Given the description of an element on the screen output the (x, y) to click on. 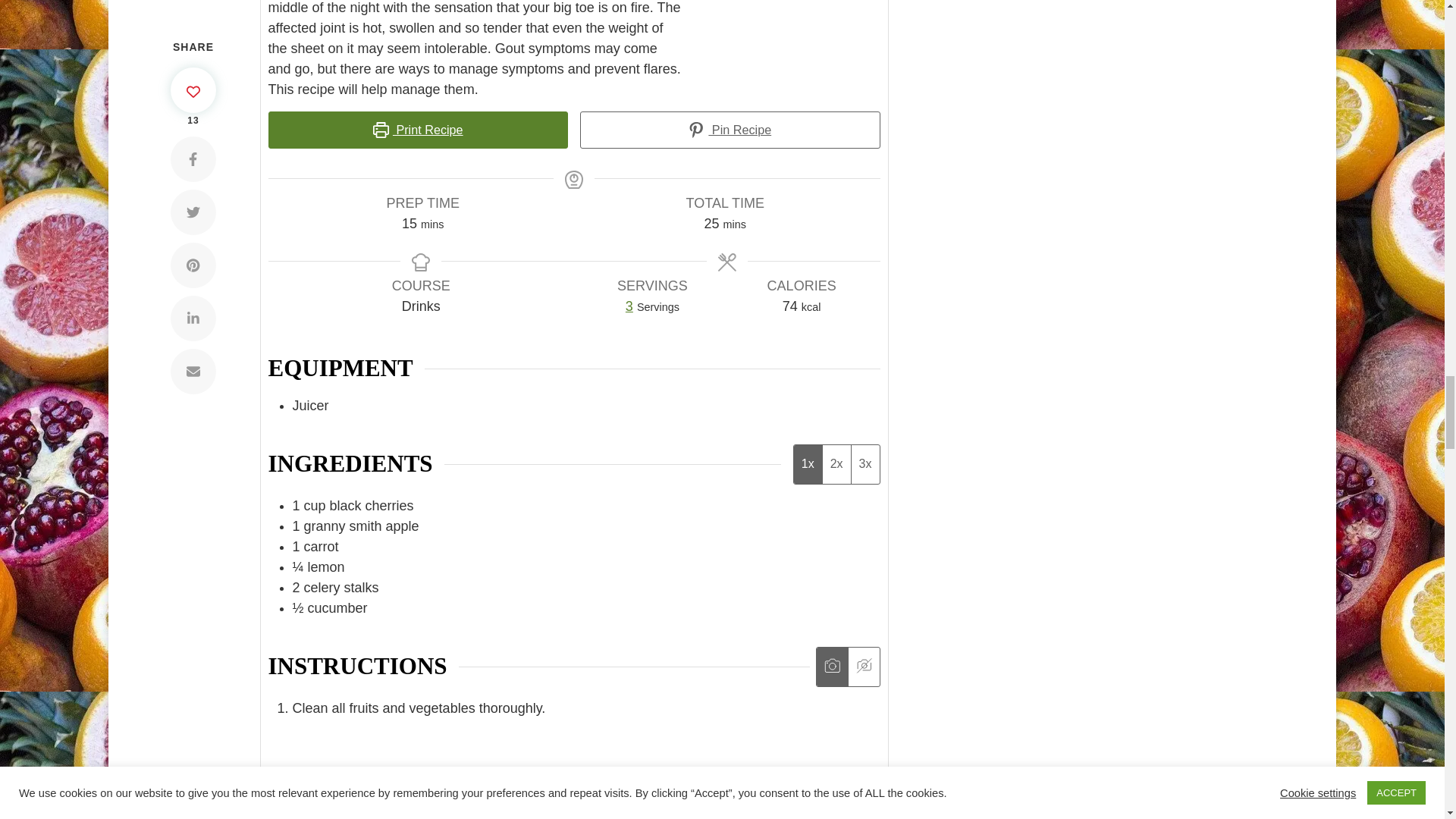
Print Recipe (418, 129)
Pin Recipe (729, 129)
